Given the description of an element on the screen output the (x, y) to click on. 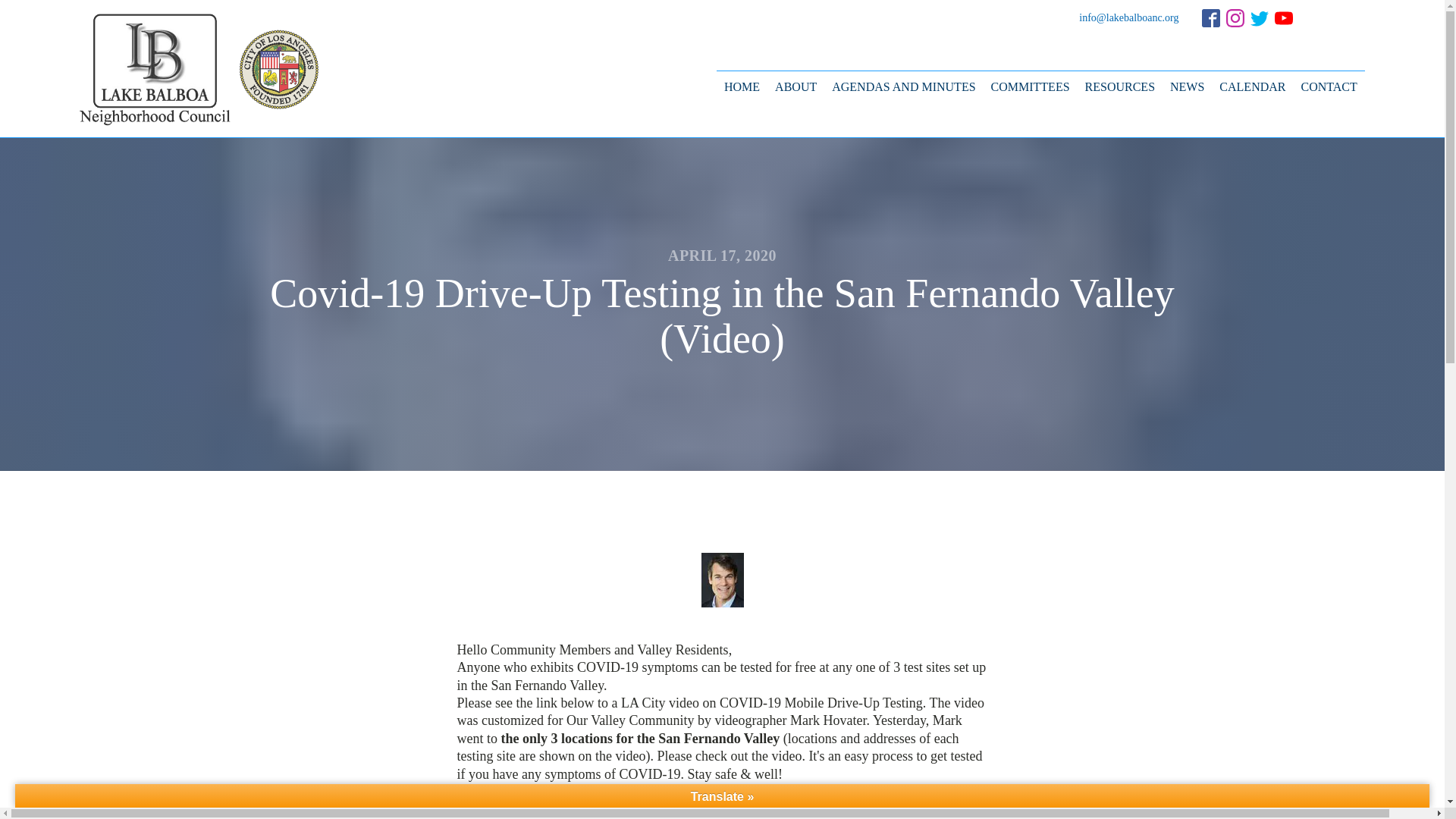
Covid-19 Testing In the San Fernando Valley (646, 800)
RESOURCES (1119, 87)
AGENDAS AND MINUTES (903, 87)
COMMITTEES (1030, 87)
HOME (741, 87)
ABOUT (795, 87)
